Given the description of an element on the screen output the (x, y) to click on. 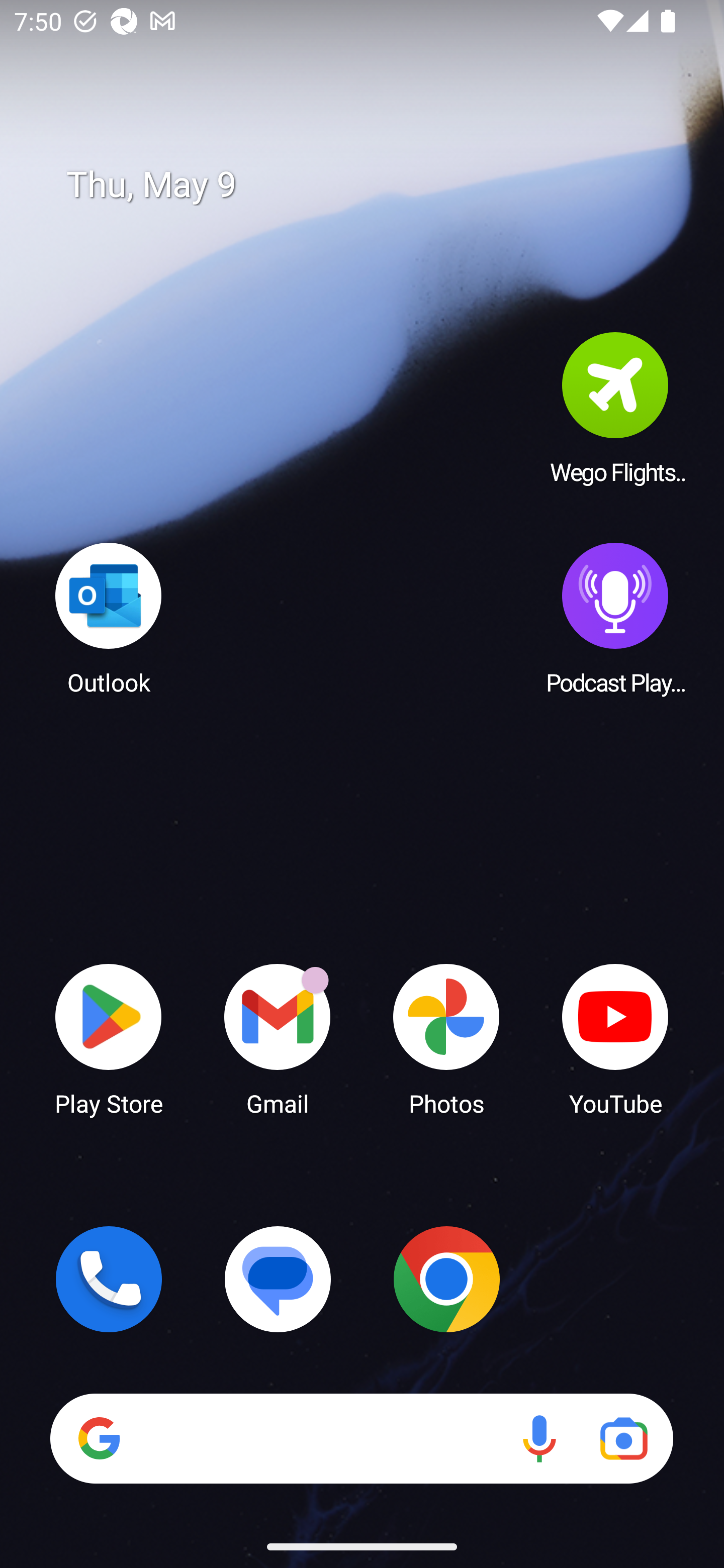
Thu, May 9 (375, 184)
Wego Flights & Hotels (615, 407)
Outlook (108, 617)
Podcast Player (615, 617)
Play Store (108, 1038)
Gmail Gmail has 18 notifications (277, 1038)
Photos (445, 1038)
YouTube (615, 1038)
Phone (108, 1279)
Messages (277, 1279)
Chrome (446, 1279)
Search Voice search Google Lens (361, 1438)
Voice search (539, 1438)
Google Lens (623, 1438)
